Given the description of an element on the screen output the (x, y) to click on. 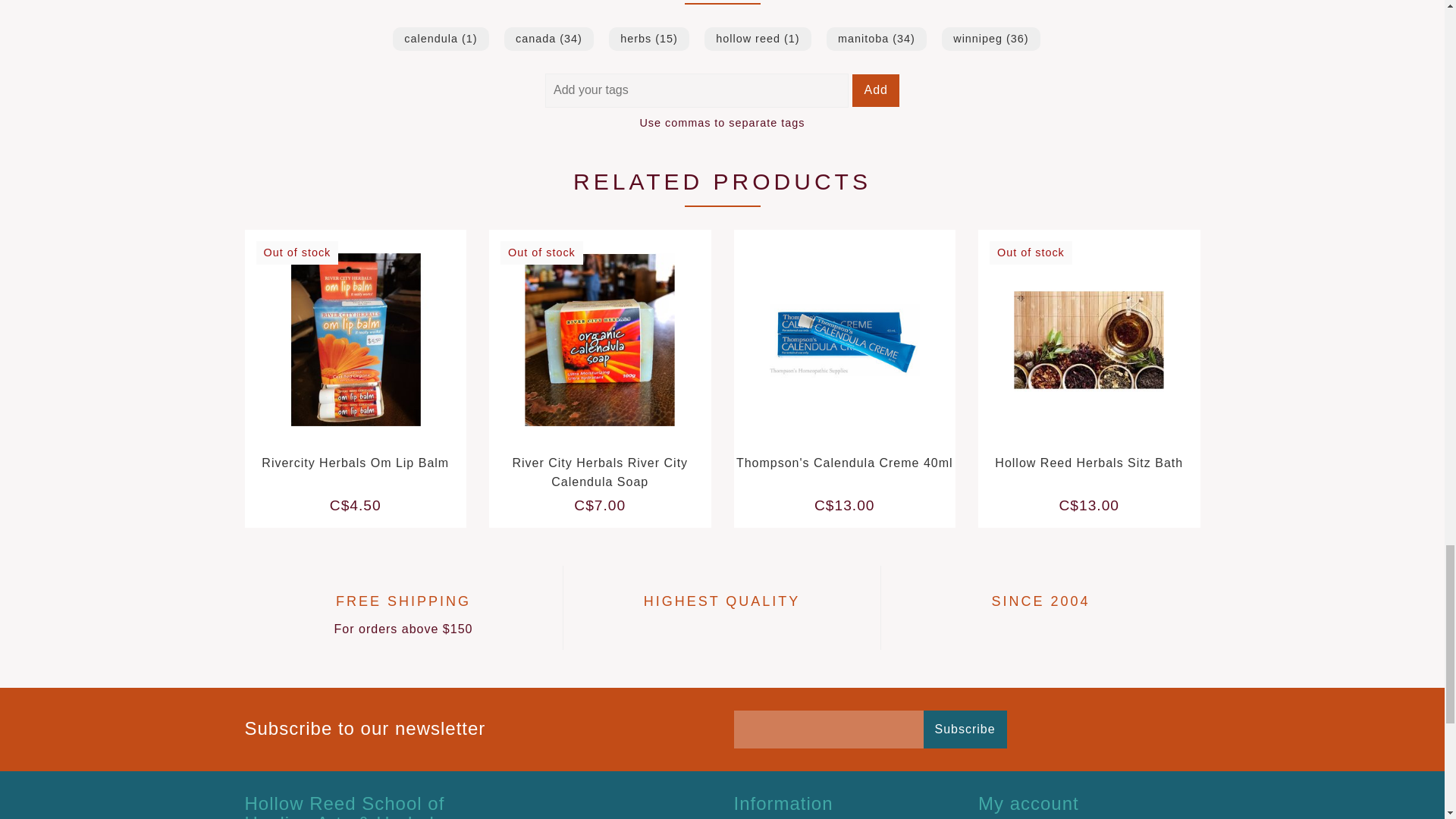
Rivercity Herbals Om Lip Balm (355, 462)
Add (874, 90)
calendula (440, 38)
winnipeg (990, 38)
River City Herbals River City Calendula Soap (599, 472)
hollow reed (757, 38)
manitoba (876, 38)
herbs (648, 38)
canada (548, 38)
